Given the description of an element on the screen output the (x, y) to click on. 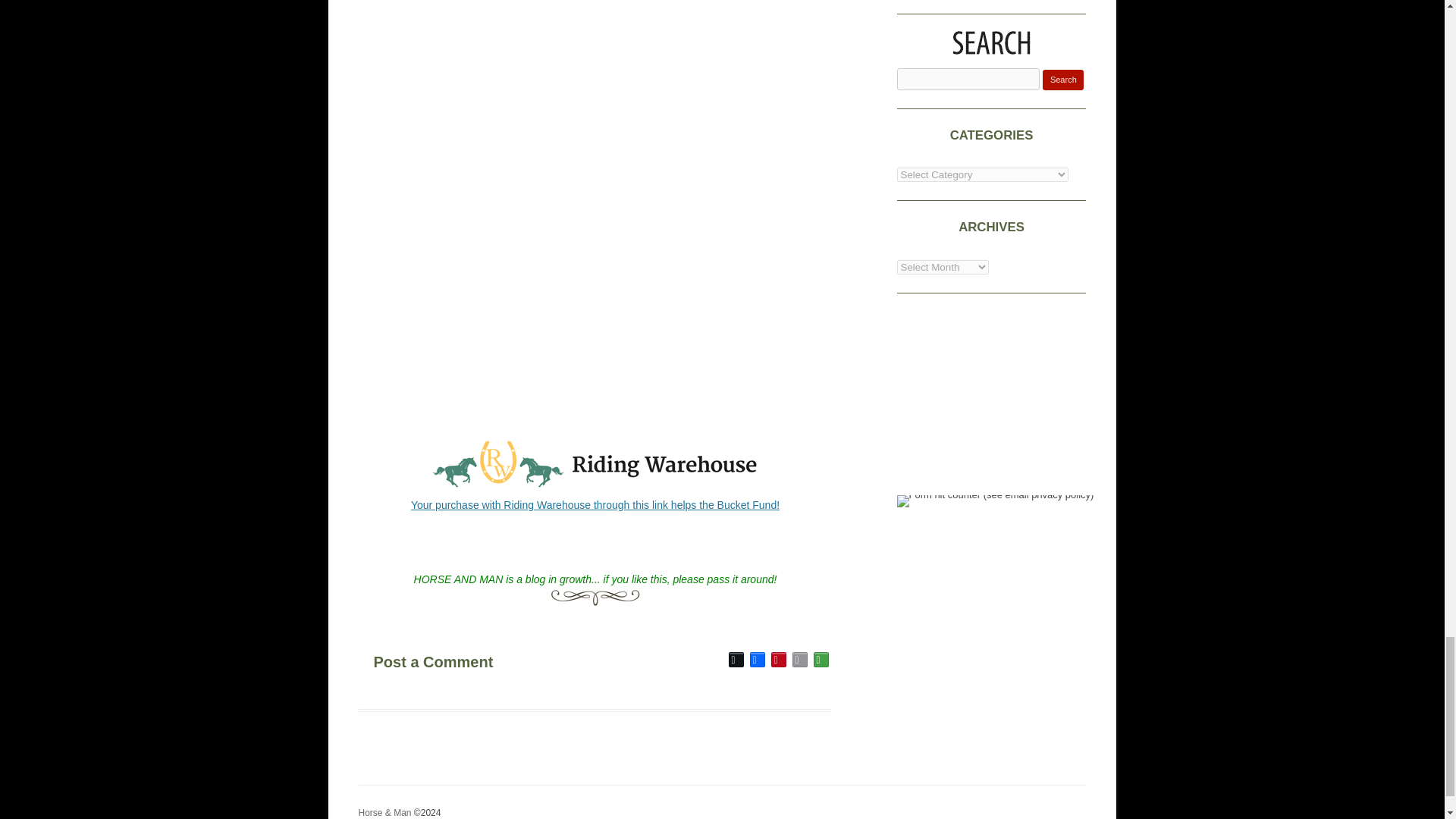
Facebook (757, 659)
Email This (799, 659)
Help The Bucket Fund with your purchase! (594, 504)
Post a Comment (465, 659)
Help The Bucket Fund with your purchase! (594, 486)
Search (1062, 79)
Pinterest (778, 659)
